Given the description of an element on the screen output the (x, y) to click on. 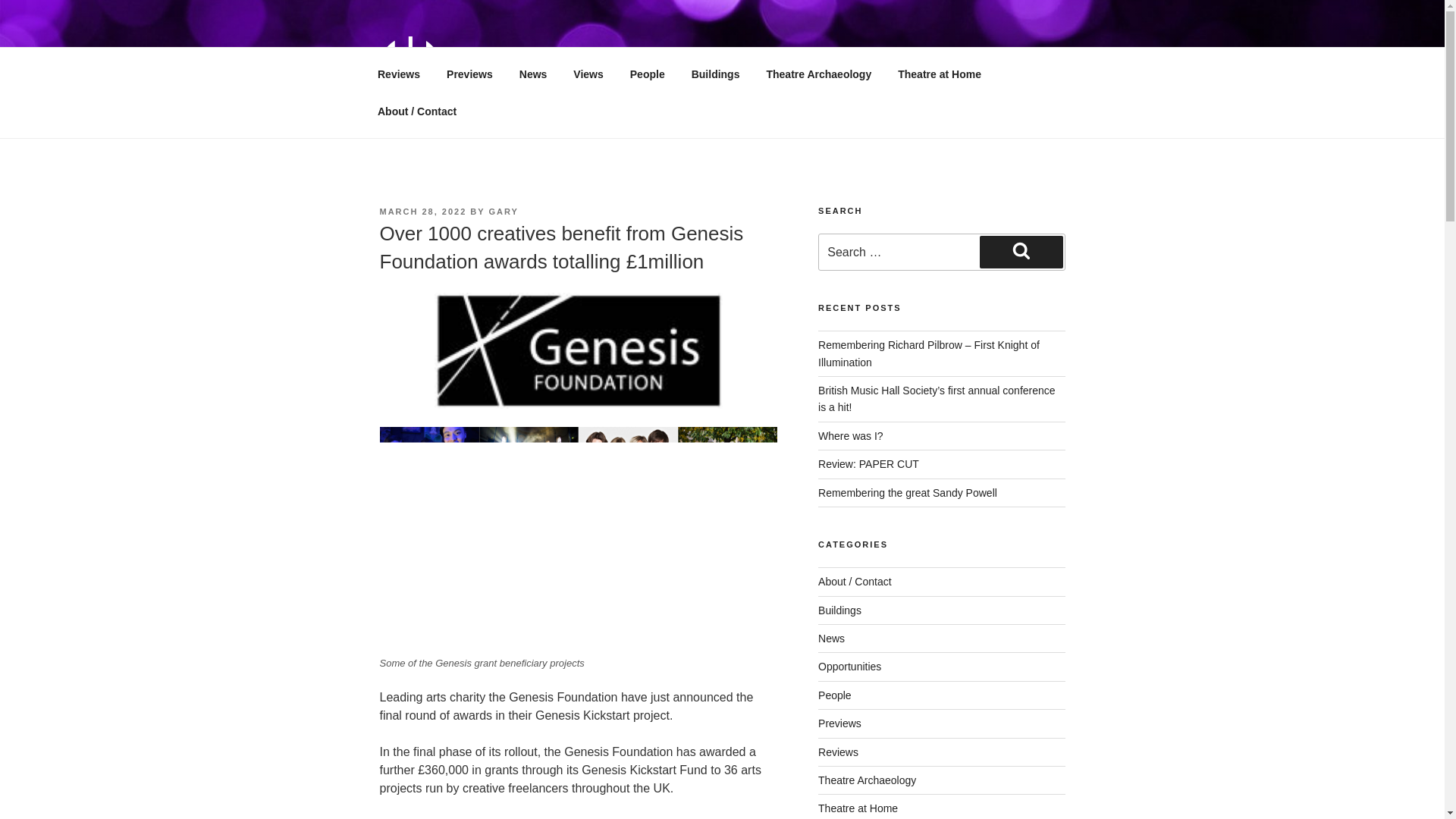
Reviews (398, 74)
News (831, 638)
Theatre at Home (939, 74)
News (532, 74)
People (834, 695)
GARY (503, 211)
Previews (839, 723)
Previews (469, 74)
Search (1020, 251)
Opportunities (849, 666)
People (646, 74)
Buildings (839, 610)
MARCH 28, 2022 (421, 211)
Views (587, 74)
Theatre Archaeology (818, 74)
